Given the description of an element on the screen output the (x, y) to click on. 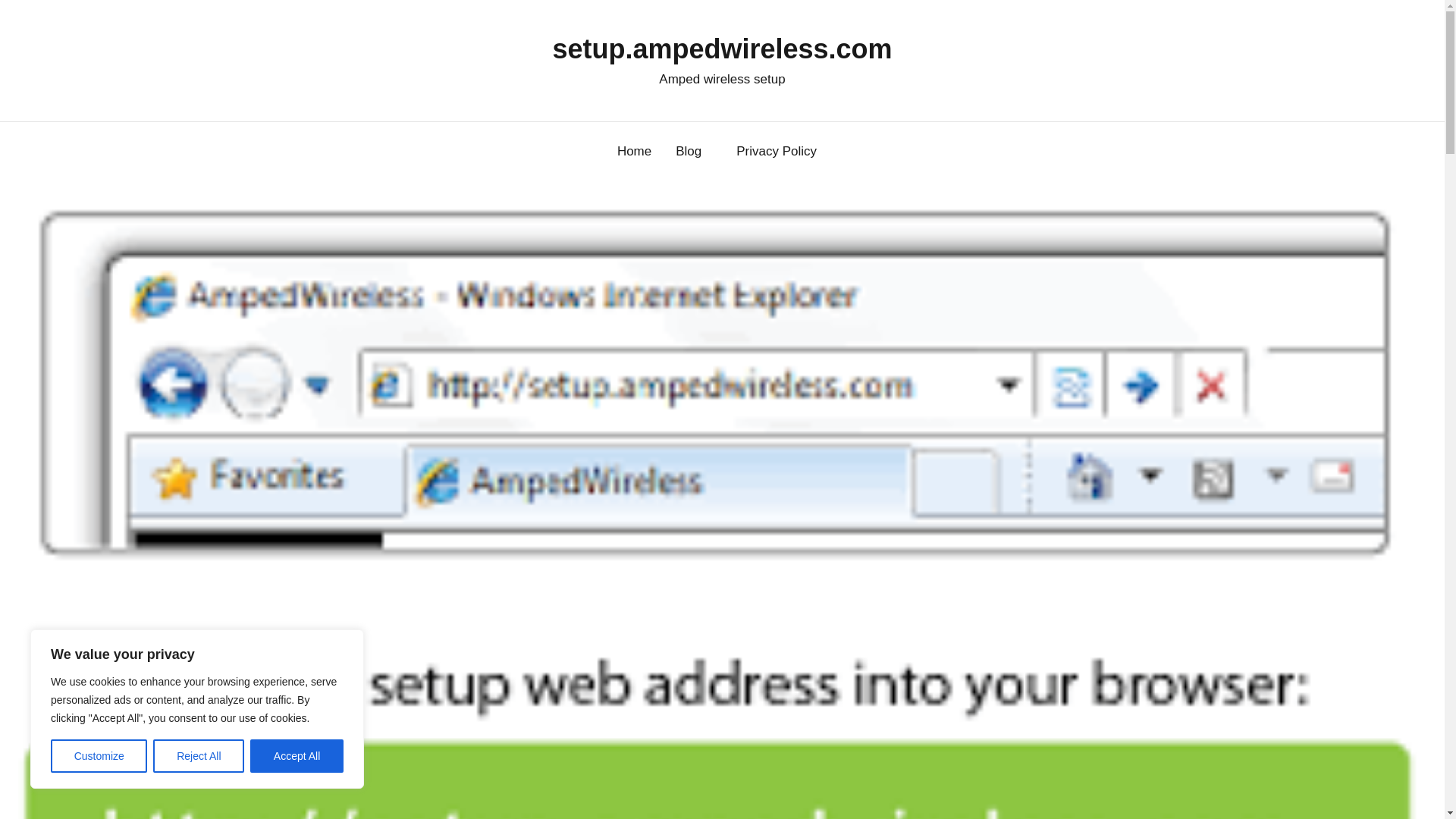
Reject All (198, 756)
Home (634, 151)
setup.ampedwireless.com (721, 48)
Blog (693, 151)
Accept All (296, 756)
Customize (98, 756)
Privacy Policy (781, 151)
